Given the description of an element on the screen output the (x, y) to click on. 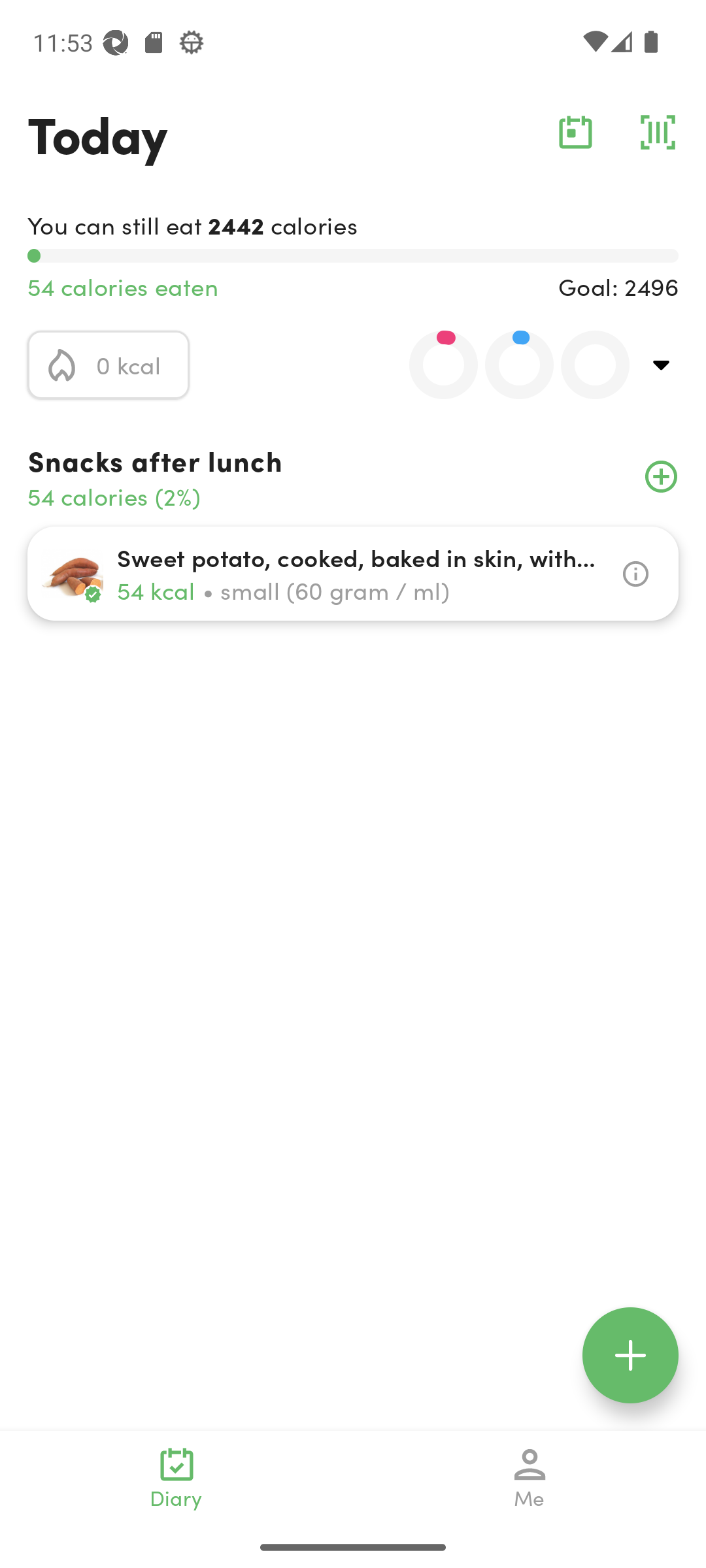
calendar_action (575, 132)
barcode_action (658, 132)
calorie_icon 0 kcal (108, 365)
0.03 0.02 0.0 (508, 365)
top_right_action (661, 365)
info_icon (636, 573)
floating_action_icon (630, 1355)
Me navigation_icon (529, 1478)
